Given the description of an element on the screen output the (x, y) to click on. 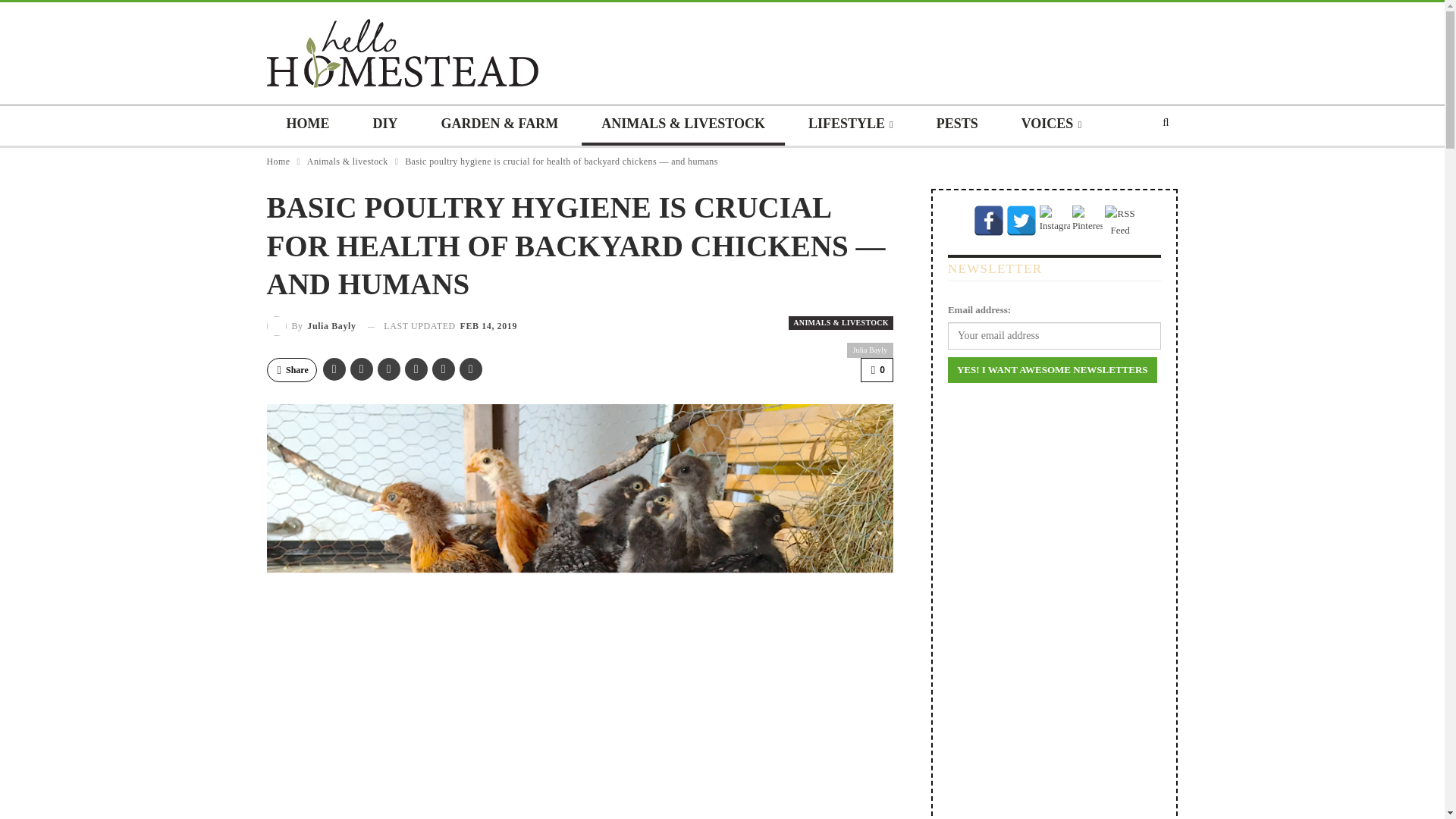
LIFESTYLE (850, 125)
By Julia Bayly (311, 325)
Facebook (989, 220)
Browse author articles (311, 325)
Twitter (1021, 220)
VOICES (1050, 125)
PESTS (957, 125)
Home (277, 161)
HOME (307, 125)
DIY (385, 125)
